Given the description of an element on the screen output the (x, y) to click on. 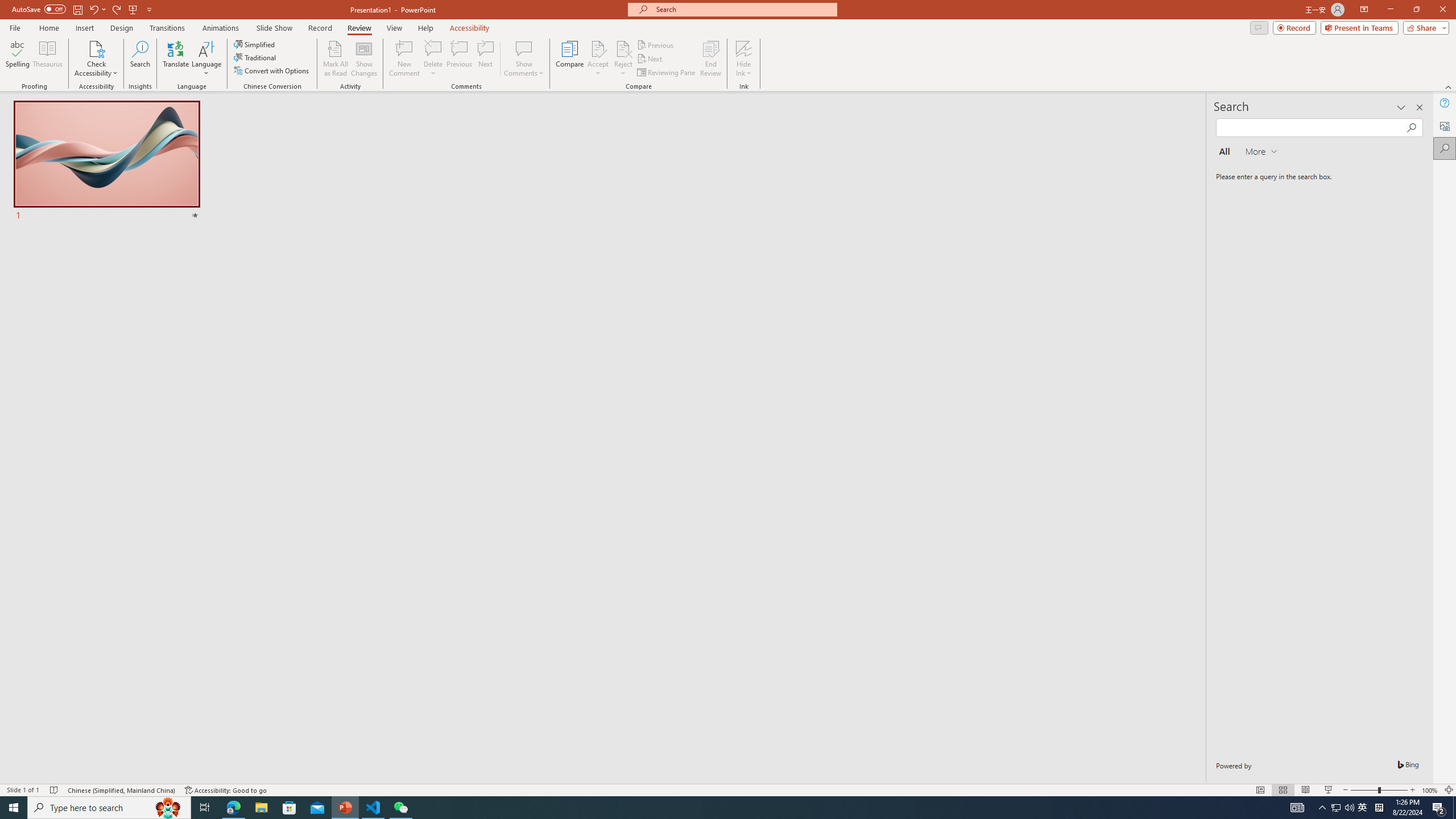
Simplified (254, 44)
Close pane (1419, 107)
Delete (432, 58)
Spelling... (17, 58)
Class: MsoCommandBar (728, 789)
Task Pane Options (1400, 107)
Reject Change (622, 48)
